Given the description of an element on the screen output the (x, y) to click on. 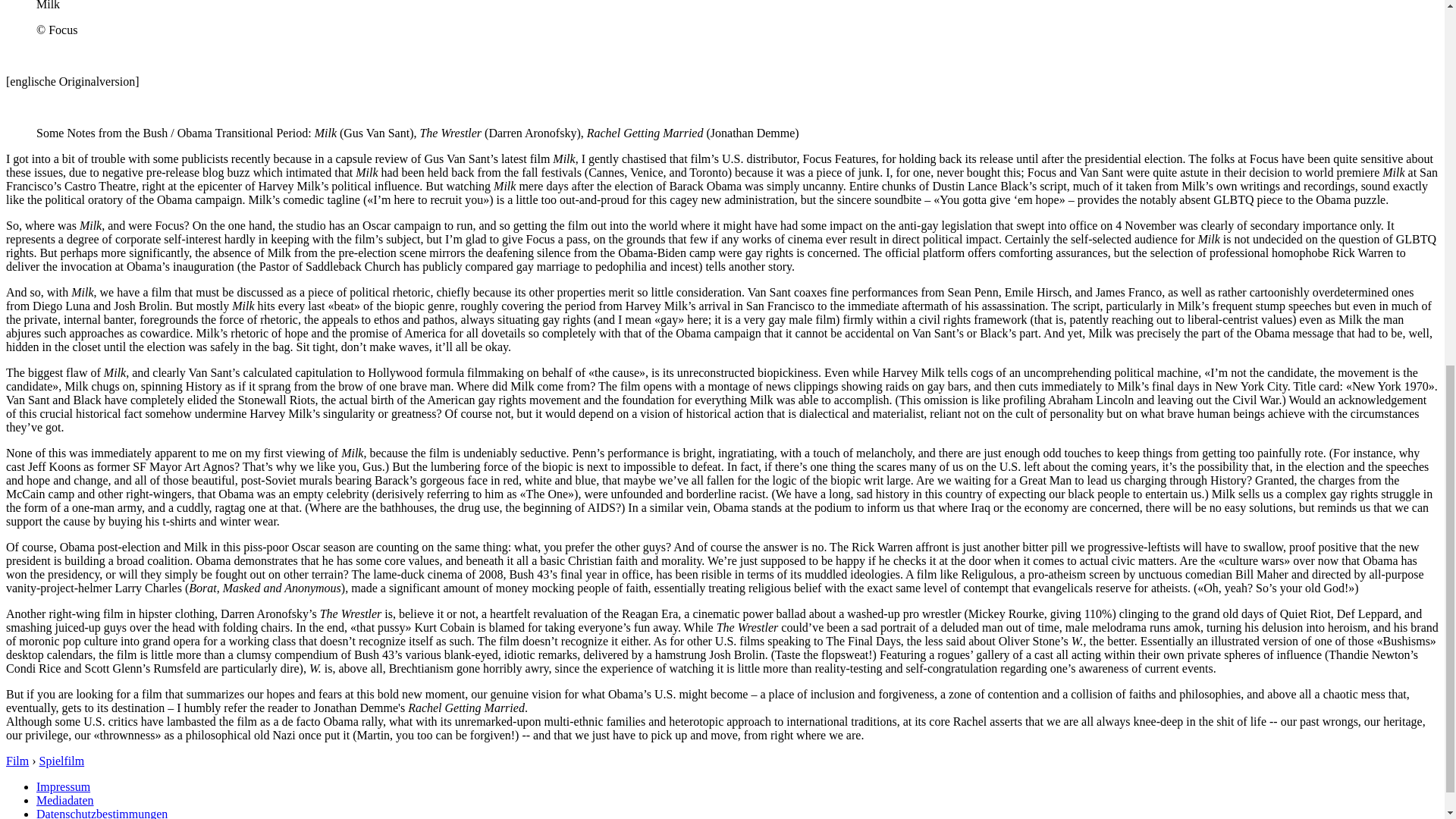
Mediadaten (65, 799)
Spielfilm (61, 760)
Film (17, 760)
Impressum (63, 786)
